Given the description of an element on the screen output the (x, y) to click on. 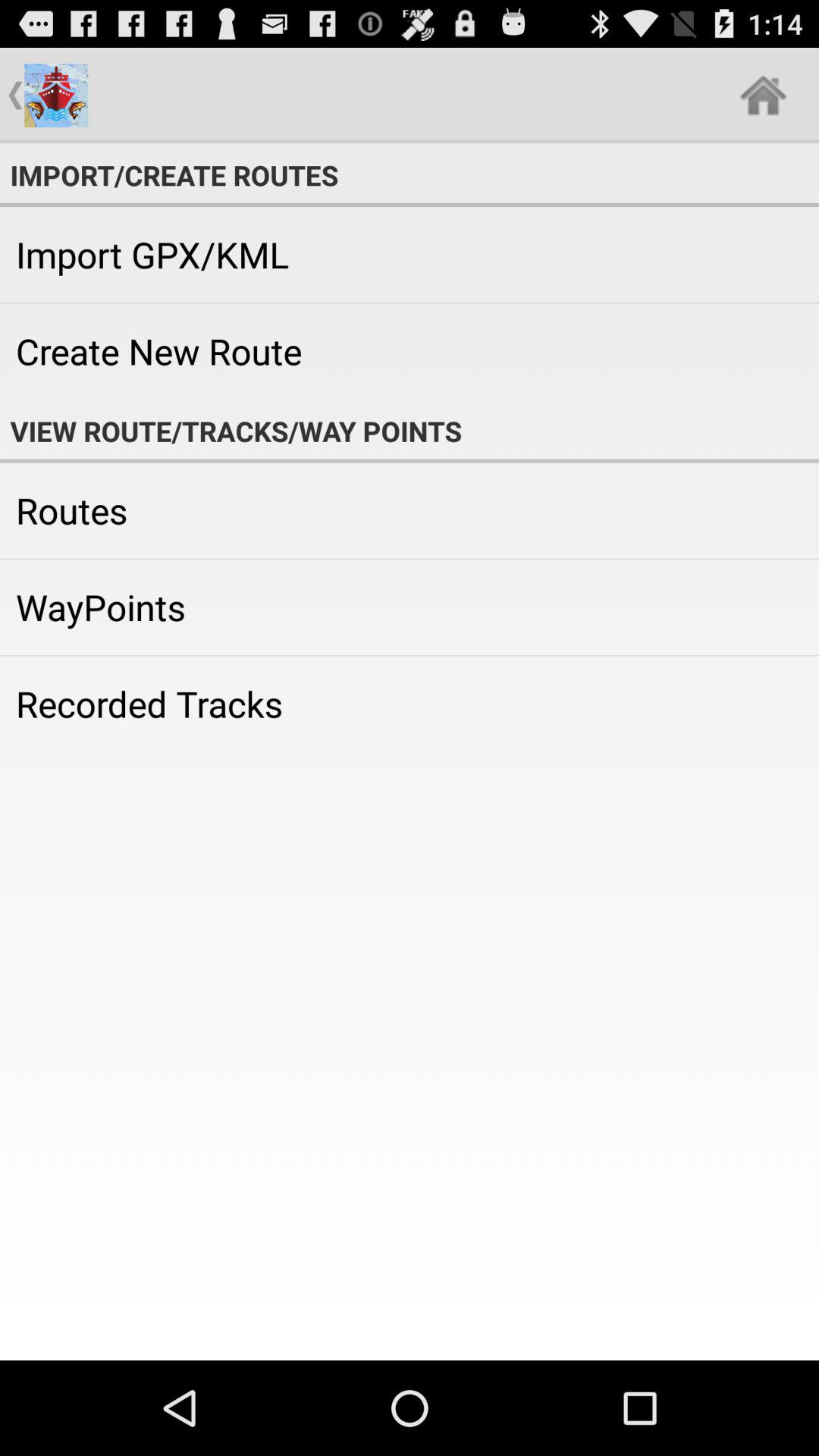
click icon below the waypoints app (409, 703)
